Given the description of an element on the screen output the (x, y) to click on. 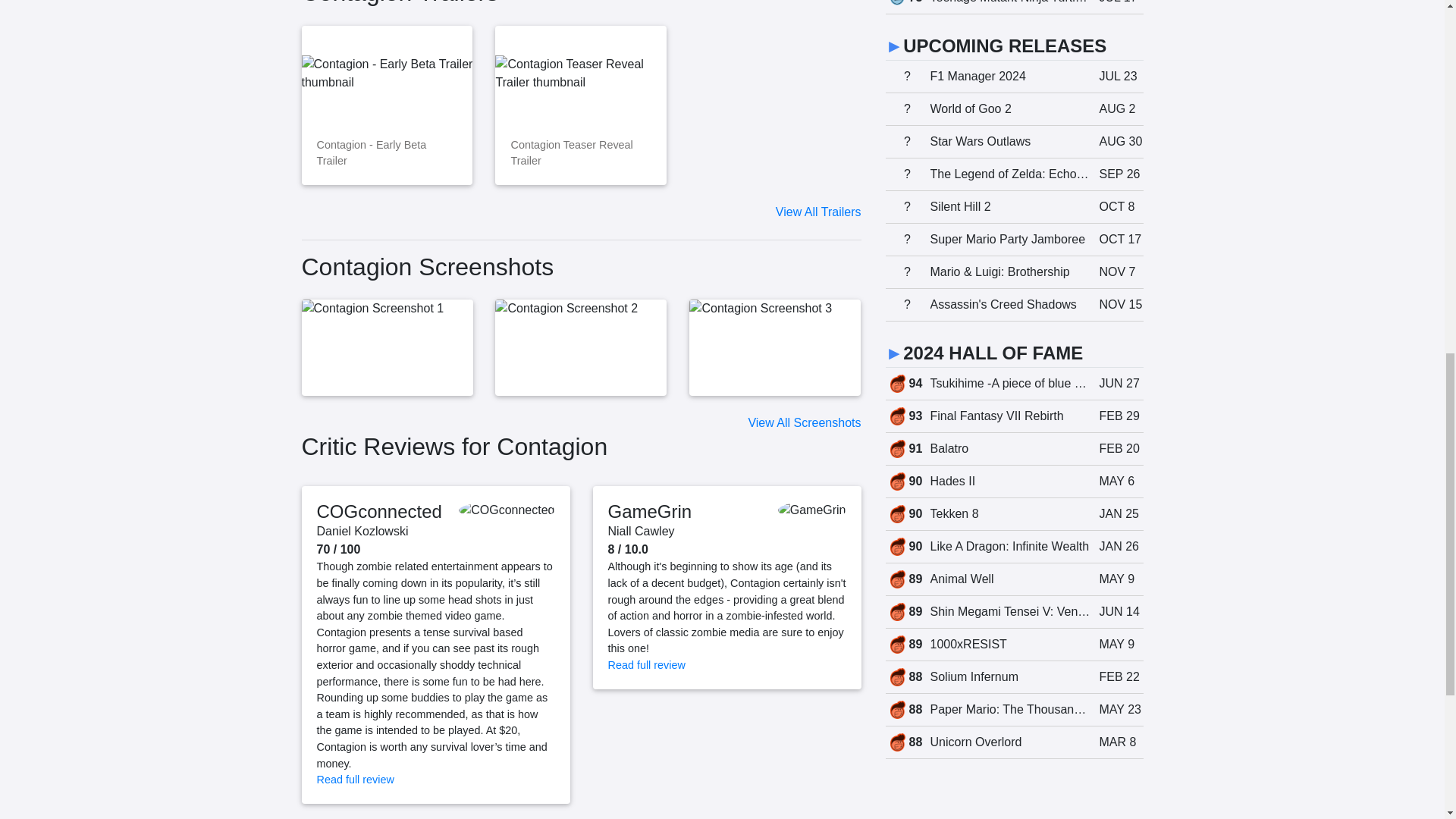
Read full review (355, 779)
GameGrin (650, 511)
View All Screenshots (804, 422)
COGconnected (379, 511)
Daniel Kozlowski (363, 530)
View All Trailers (818, 211)
Niall Cawley (641, 530)
Read full review (646, 664)
